Given the description of an element on the screen output the (x, y) to click on. 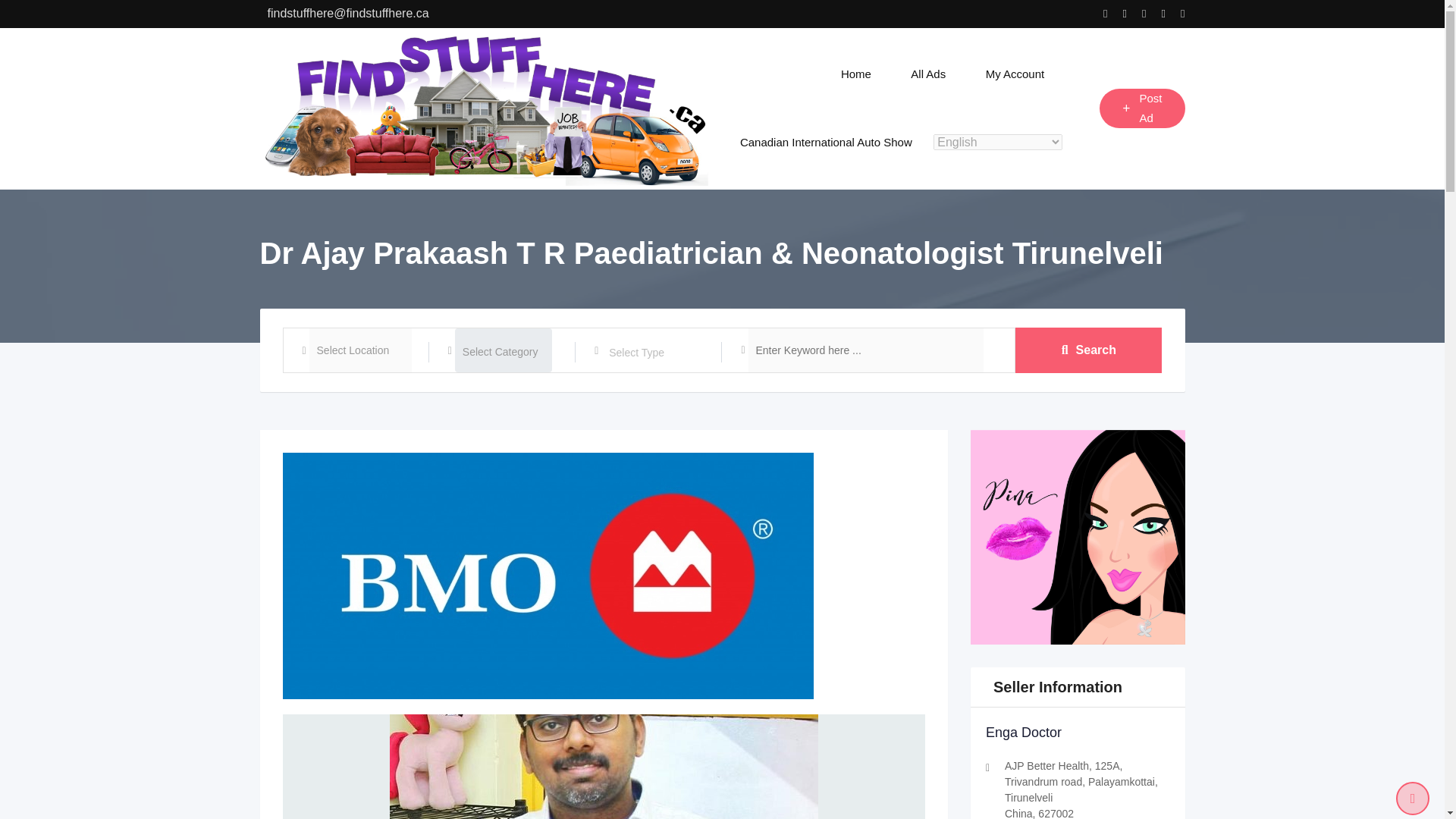
Home (855, 74)
Search (1087, 350)
Canadian International Auto Show (826, 142)
Post Ad (1142, 107)
All Ads (927, 74)
Select Type (657, 352)
My Account (1015, 74)
